Given the description of an element on the screen output the (x, y) to click on. 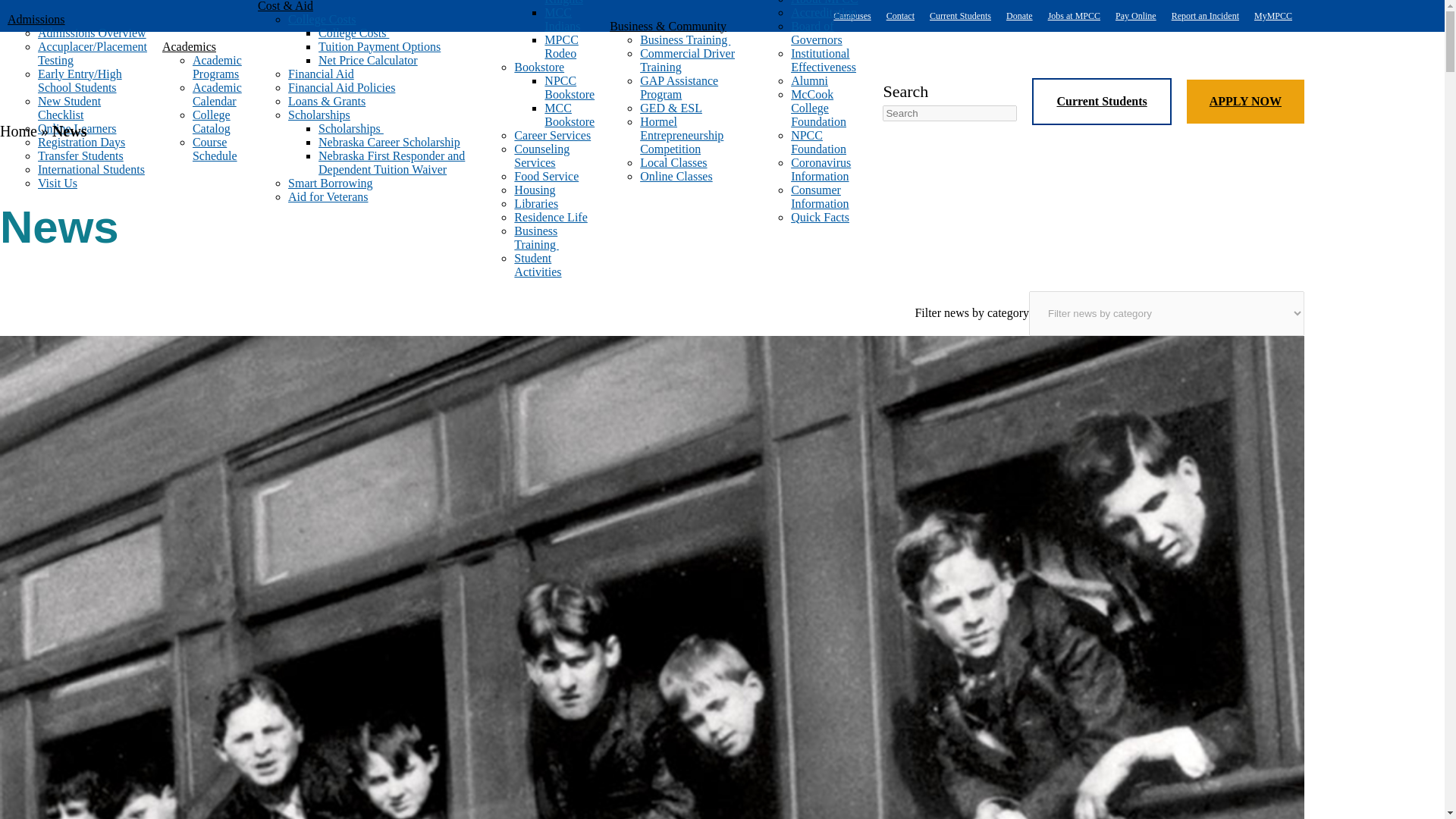
Pay Online (1135, 15)
Nebraska First Responder and Dependent Tuition Waiver (391, 161)
Academic Programs (216, 66)
College Costs  (353, 31)
Jobs at MPCC (1074, 15)
Scholarships (319, 113)
Transfer Students (80, 154)
Scholarships  (351, 127)
Financial Aid Policies (341, 86)
Donate (1019, 15)
New Student Checklist (68, 107)
International Students (90, 168)
Online Learners (76, 127)
Academics (202, 46)
Admissions (77, 18)
